Given the description of an element on the screen output the (x, y) to click on. 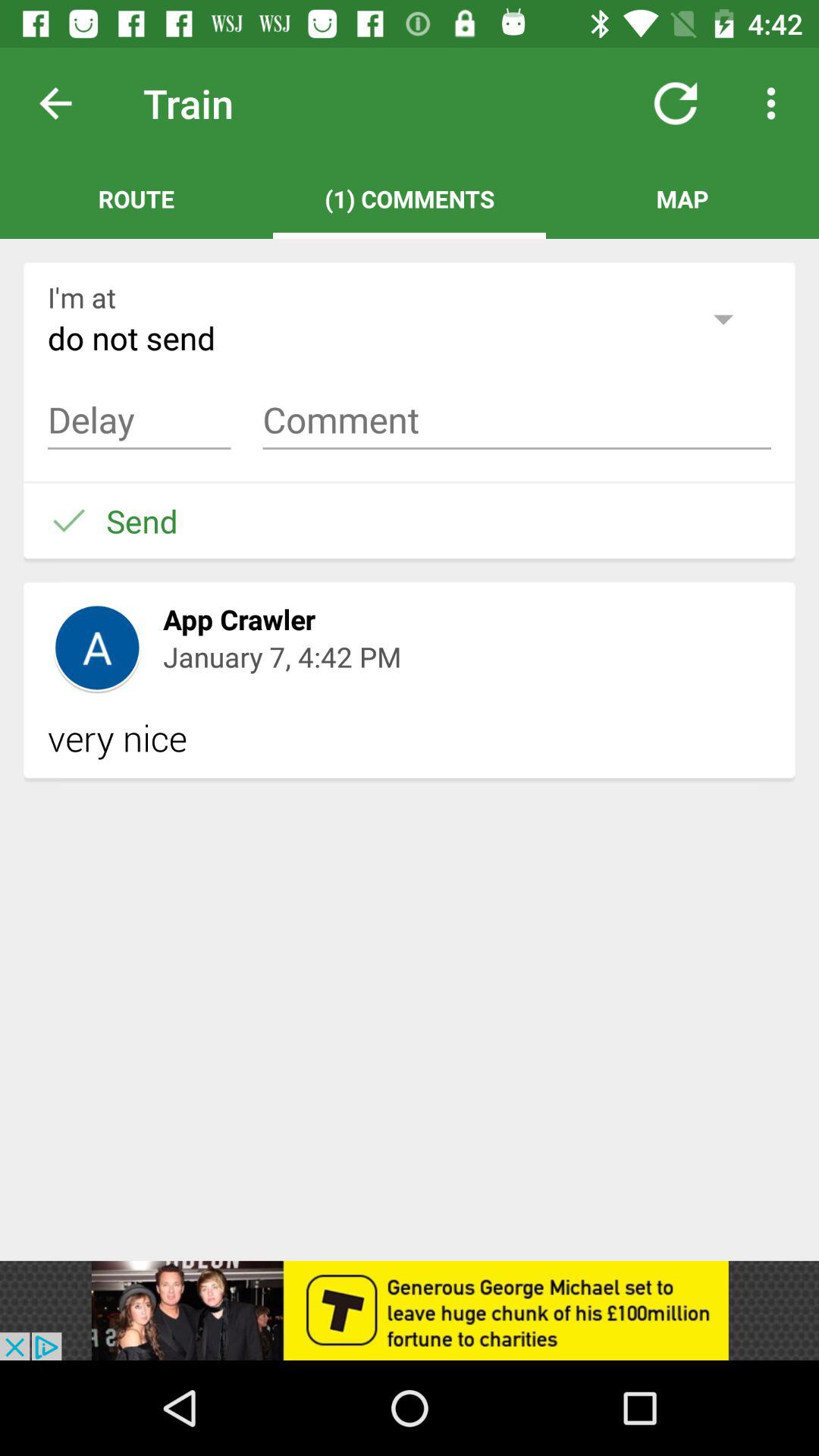
delay the report of texting (138, 420)
